Given the description of an element on the screen output the (x, y) to click on. 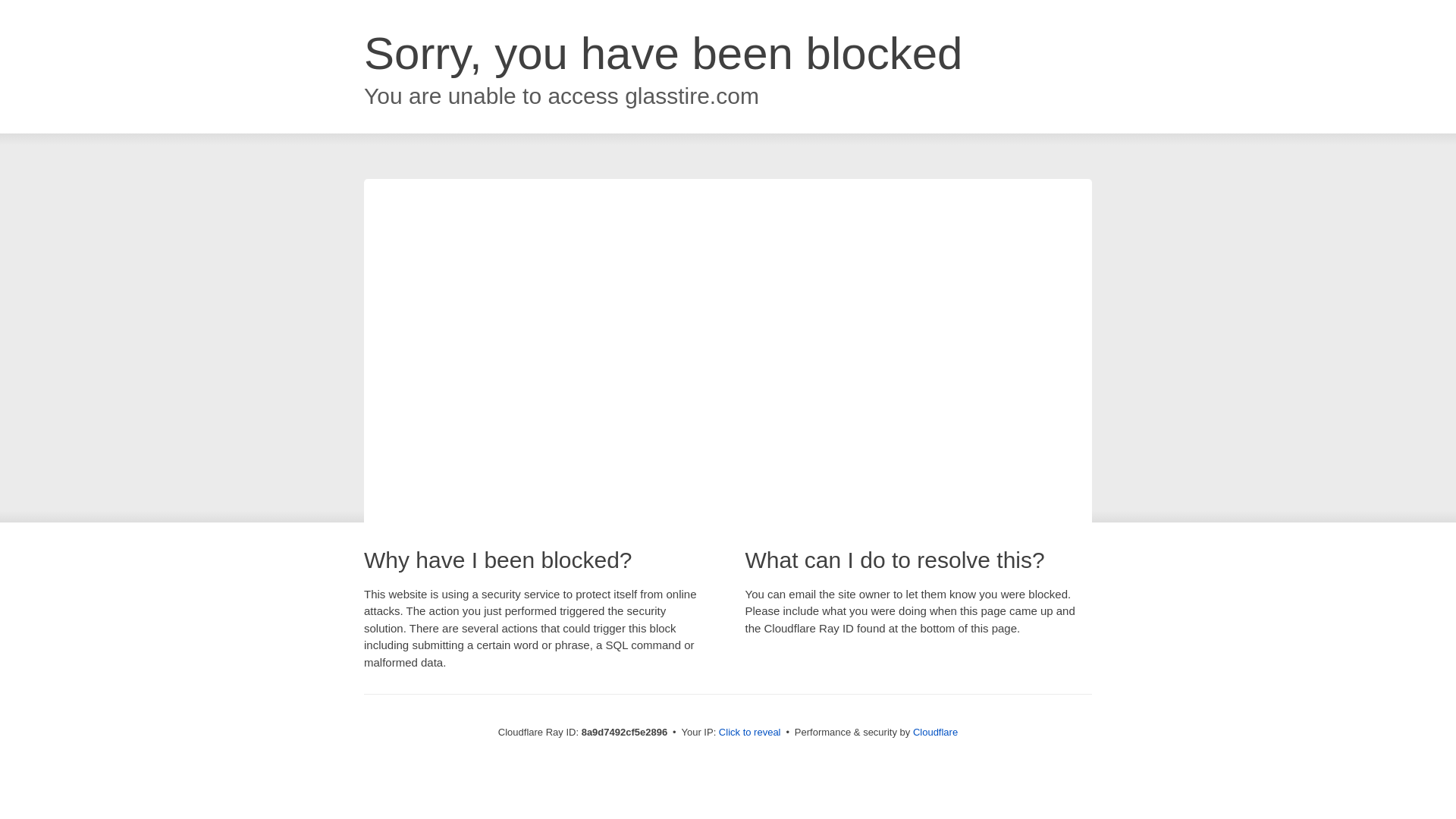
Cloudflare (935, 731)
Click to reveal (749, 732)
